Given the description of an element on the screen output the (x, y) to click on. 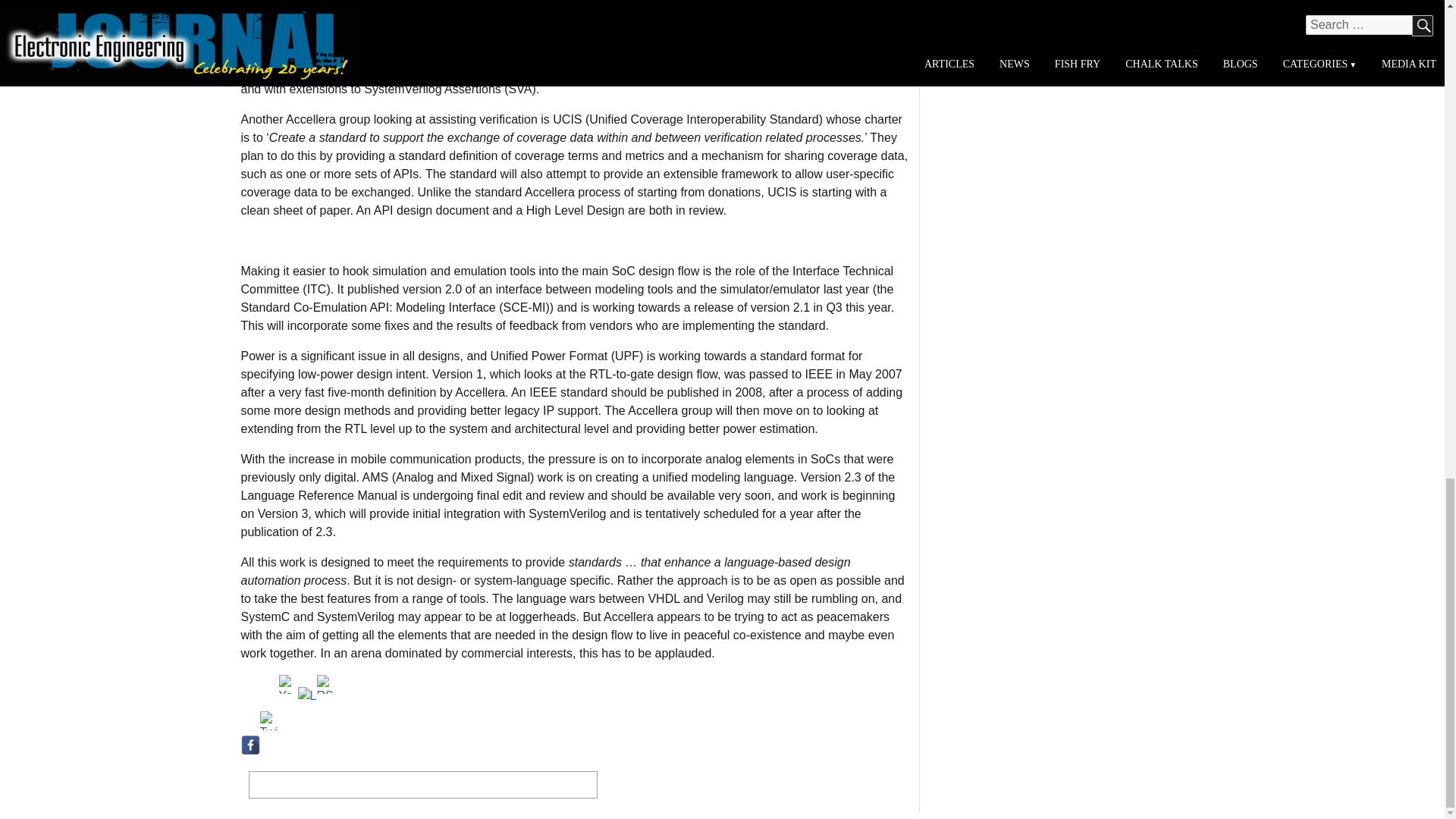
RSS Feed (326, 683)
YouTube (288, 683)
Facebook (250, 744)
LinkedIn (306, 696)
Twitter (268, 720)
